Given the description of an element on the screen output the (x, y) to click on. 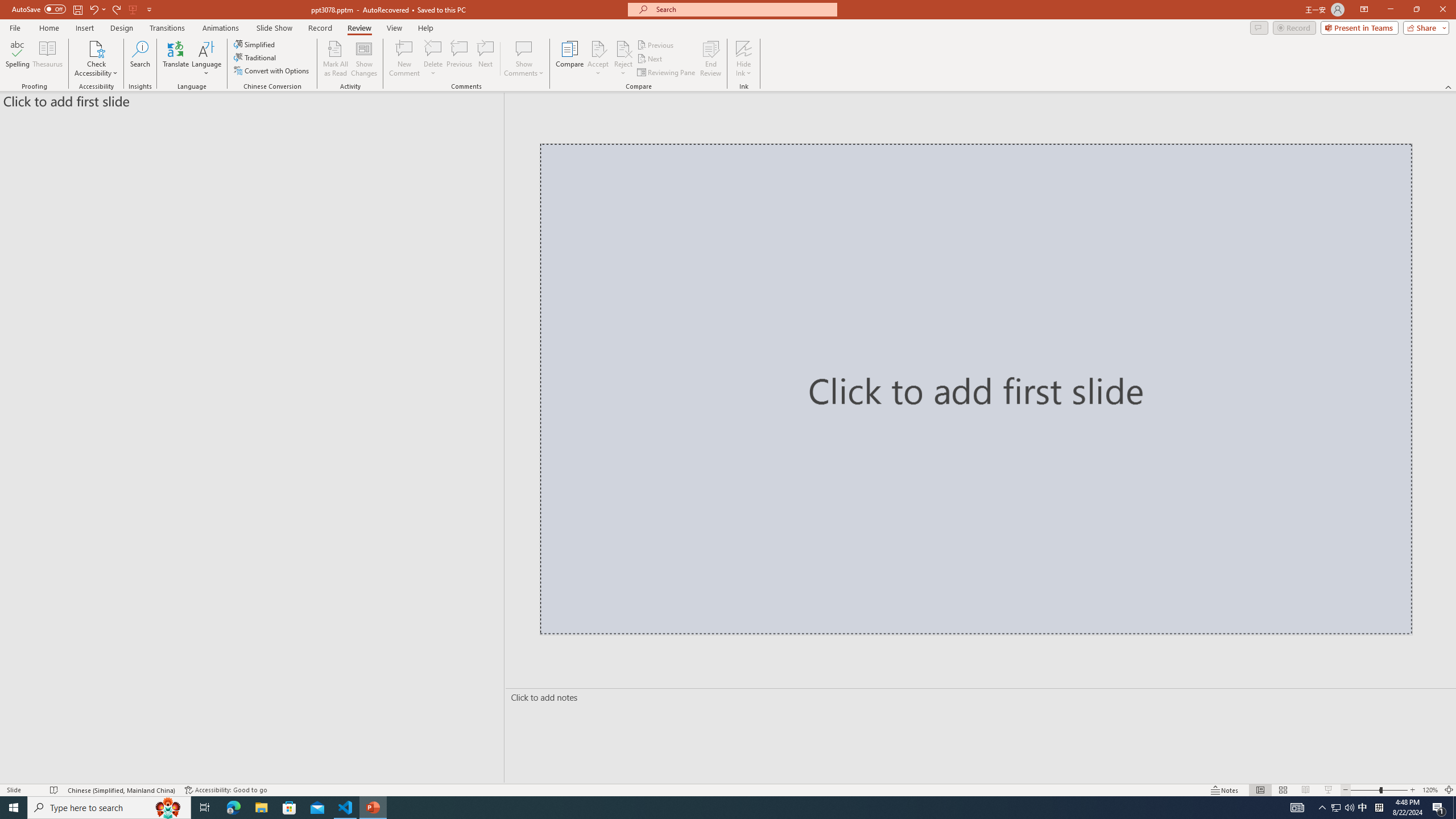
Reject (622, 58)
Thesaurus... (47, 58)
Compare (569, 58)
New Comment (403, 58)
